Given the description of an element on the screen output the (x, y) to click on. 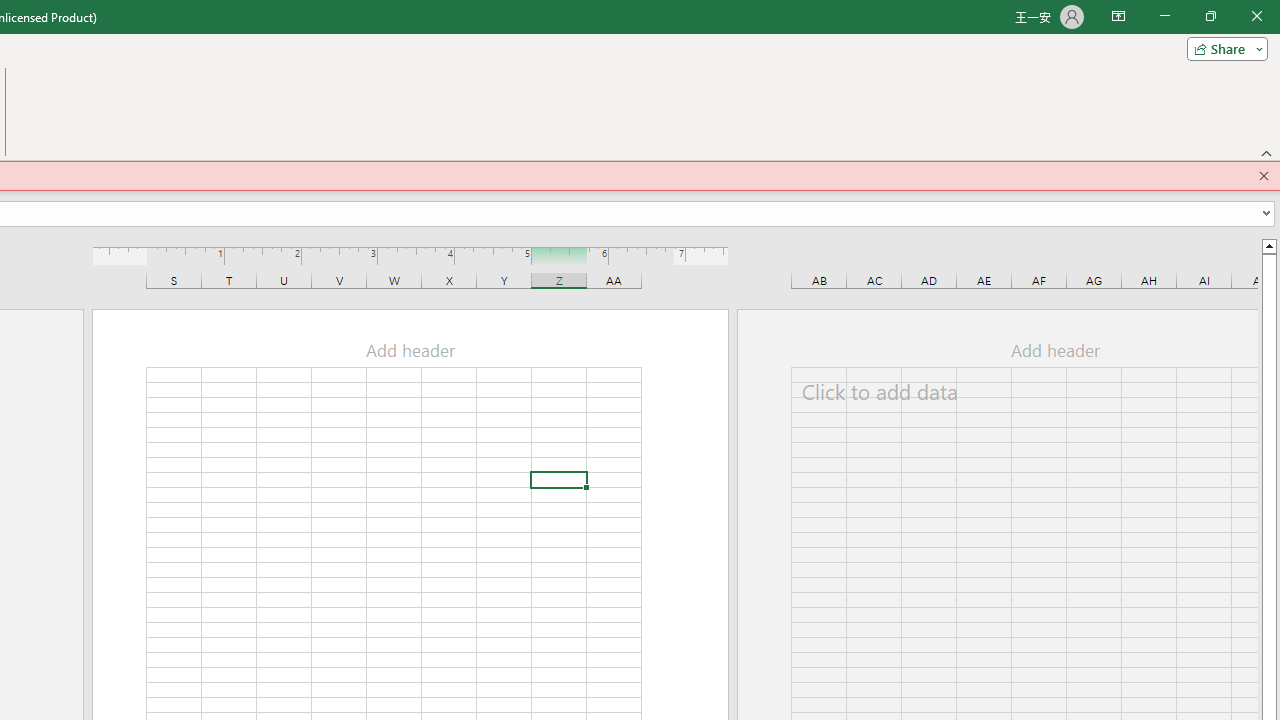
Close this message (1263, 176)
